Given the description of an element on the screen output the (x, y) to click on. 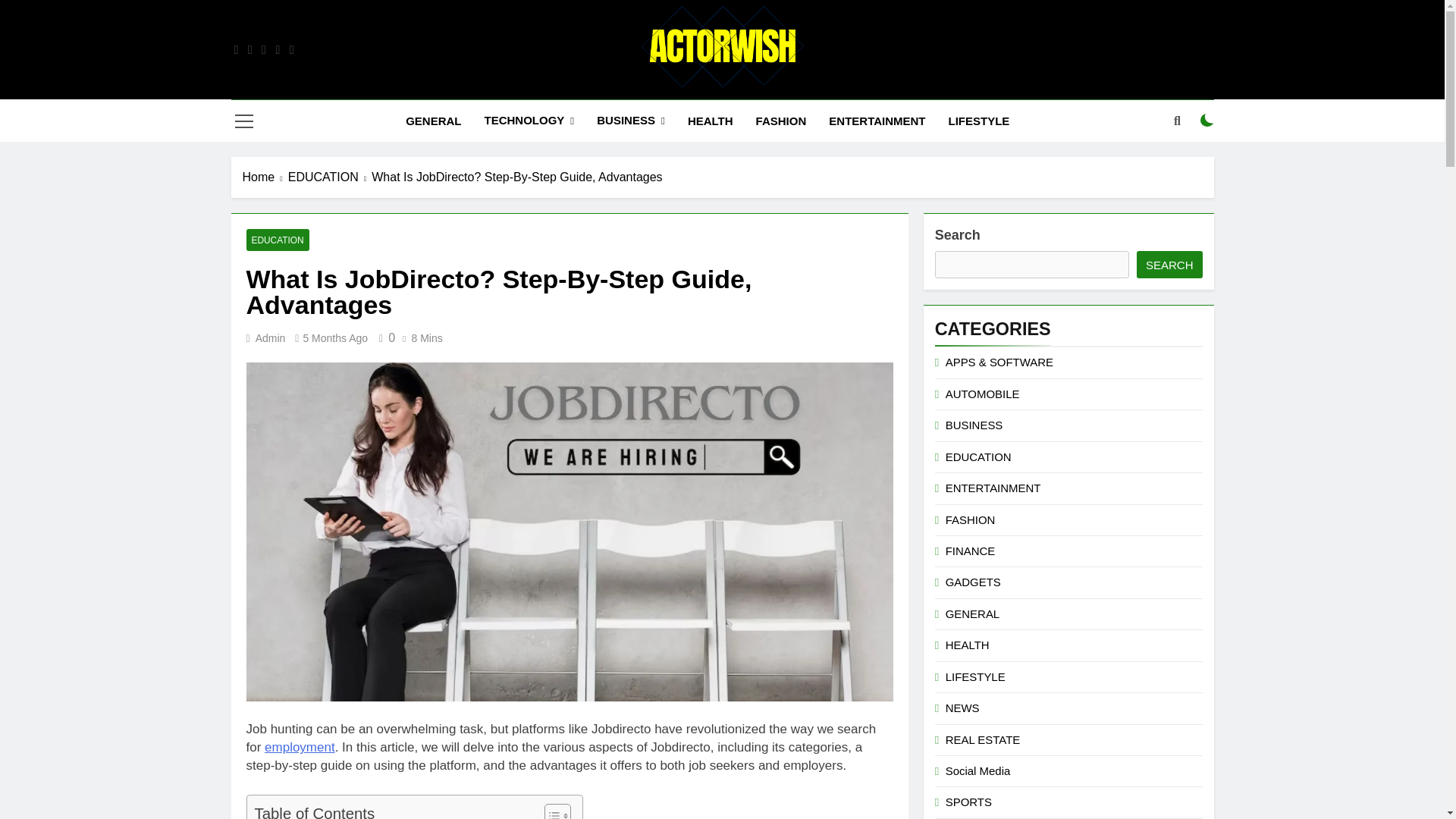
BUSINESS (631, 120)
HEALTH (710, 120)
FASHION (781, 120)
0 (384, 337)
5 Months Ago (335, 337)
Actorwish (555, 111)
ENTERTAINMENT (876, 120)
LIFESTYLE (979, 120)
EDUCATION (330, 177)
GENERAL (432, 120)
EDUCATION (277, 239)
employment (299, 747)
TECHNOLOGY (528, 120)
on (1206, 120)
Admin (270, 337)
